Given the description of an element on the screen output the (x, y) to click on. 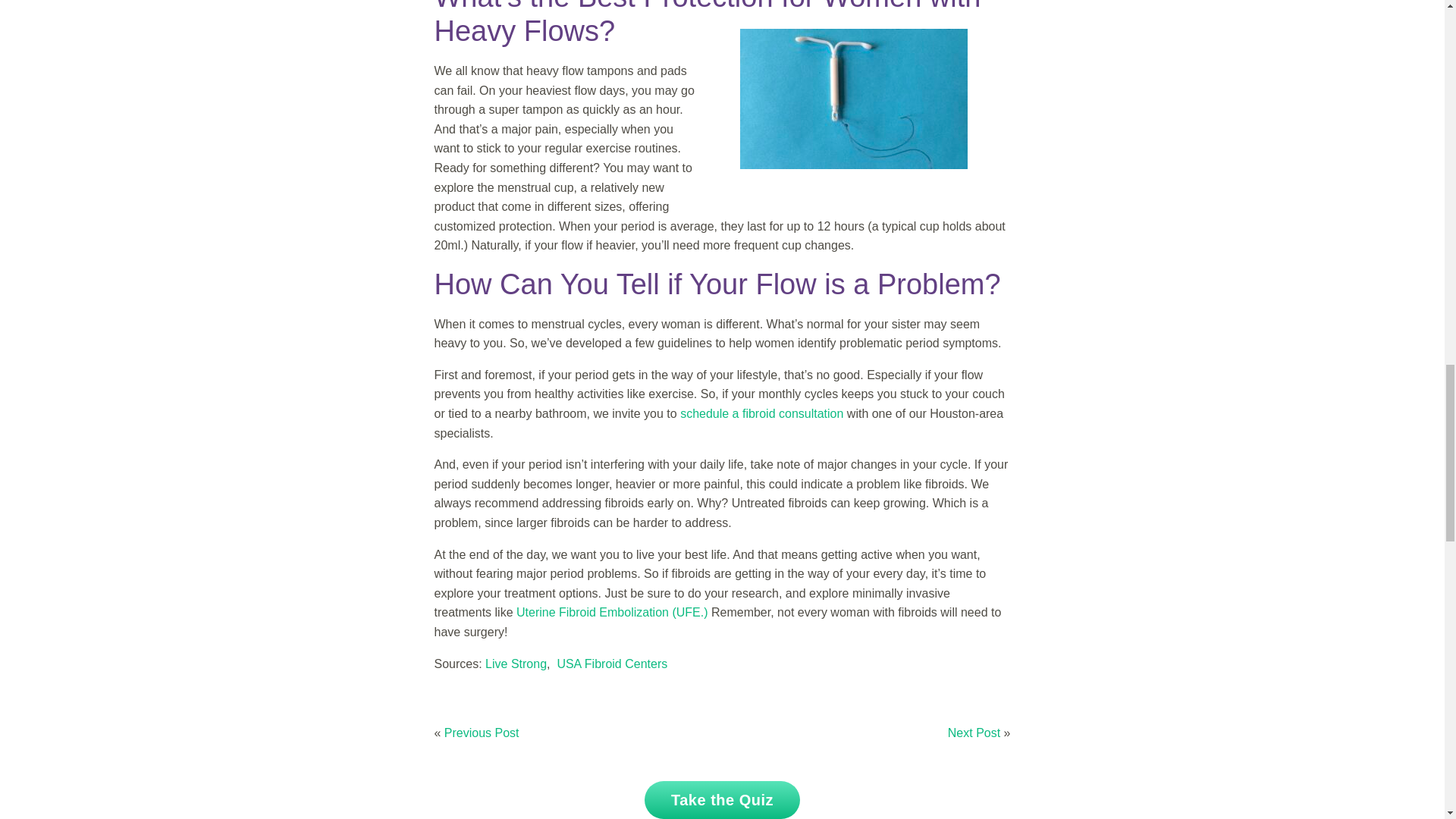
Take the Quiz (722, 800)
Previous Post (481, 732)
Live Strong (515, 662)
USA Fibroid Centers (611, 662)
Next Post (973, 732)
schedule a fibroid consultation (761, 413)
